Given the description of an element on the screen output the (x, y) to click on. 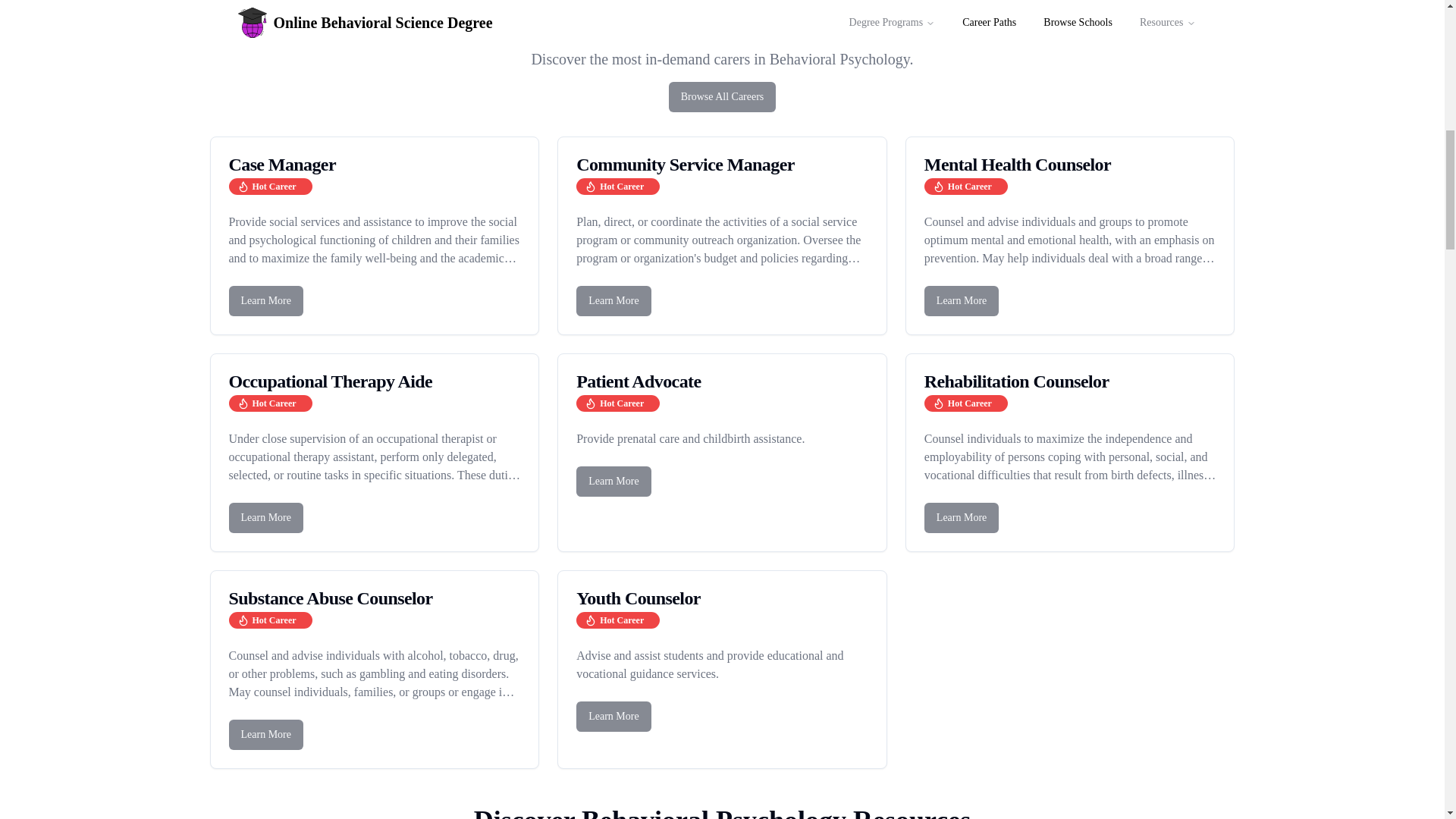
Learn More (265, 734)
Learn More (961, 300)
Learn More (374, 734)
Learn More (374, 517)
Youth Counselor (721, 597)
Community Service Manager (721, 164)
Learn More (961, 517)
Browse All Careers (722, 95)
Learn More (1069, 300)
Learn More (265, 300)
